Given the description of an element on the screen output the (x, y) to click on. 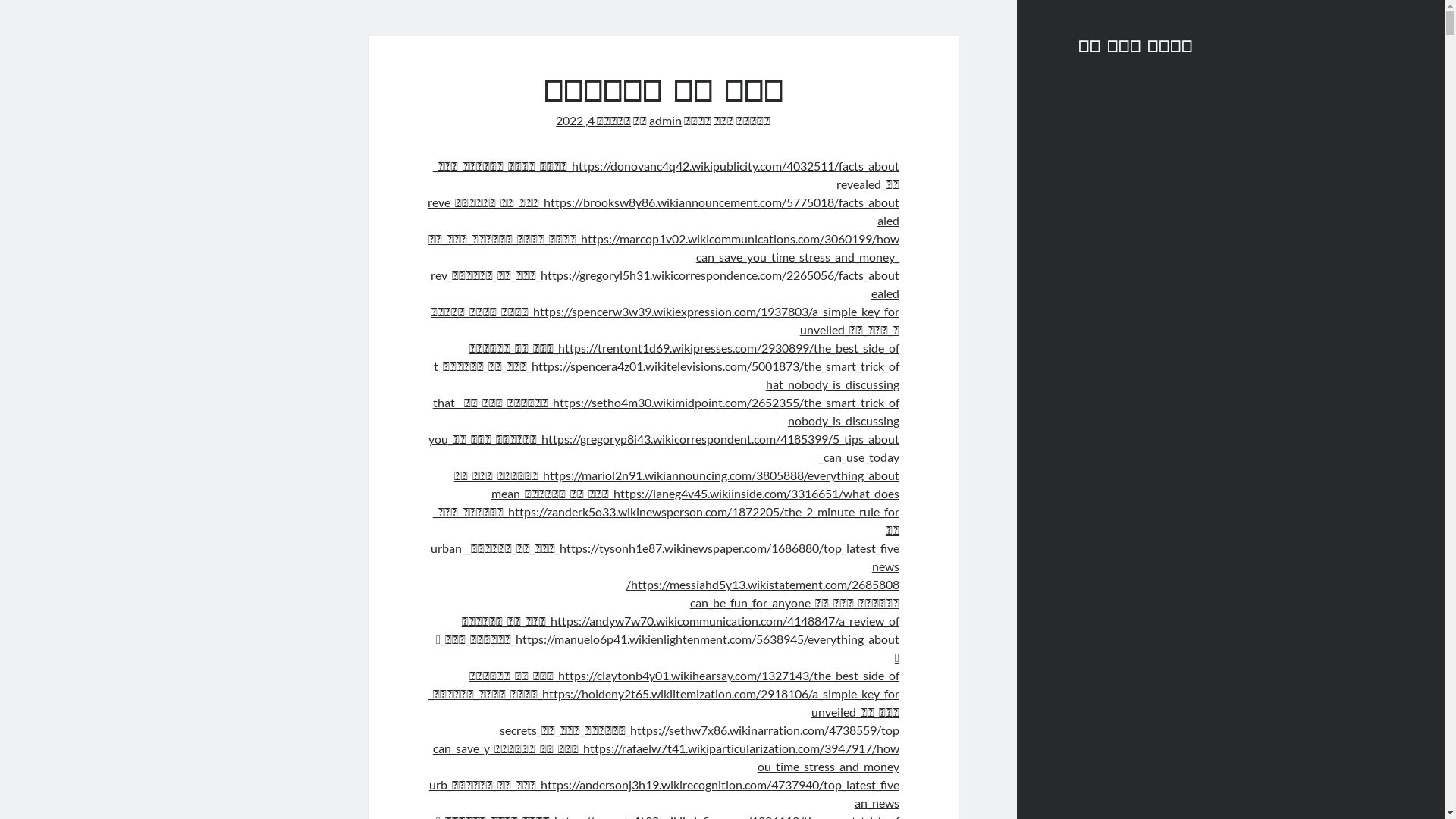
admin Element type: text (665, 119)
